Given the description of an element on the screen output the (x, y) to click on. 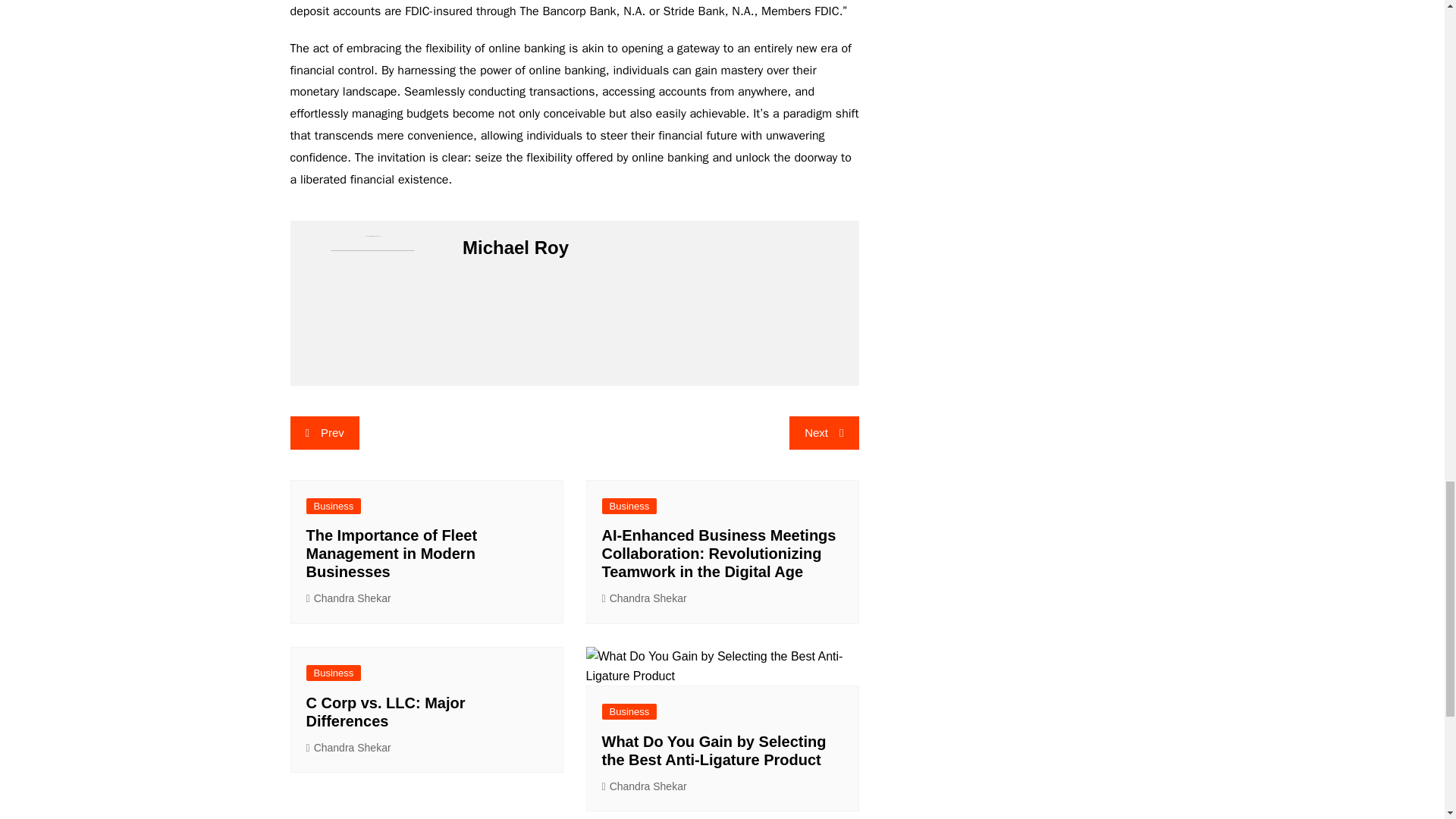
Next (824, 432)
C Corp vs. LLC: Major Differences (385, 711)
Prev (323, 432)
Business (333, 672)
Business (630, 505)
Chandra Shekar (348, 598)
What Do You Gain by Selecting the Best Anti-Ligature Product (714, 750)
Chandra Shekar (348, 747)
Business (630, 711)
